Given the description of an element on the screen output the (x, y) to click on. 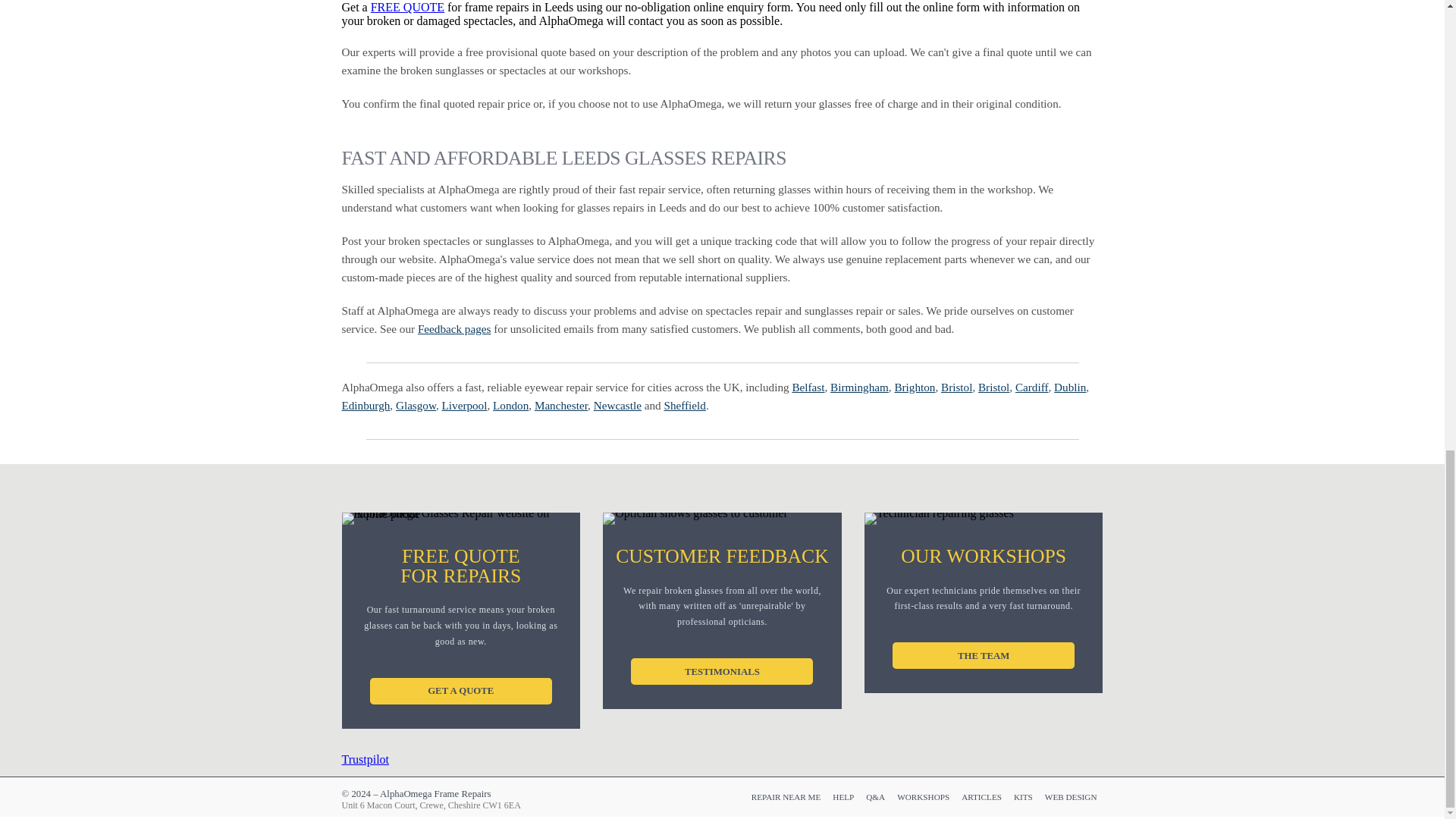
Trustpilot (364, 758)
Cardiff (1031, 386)
REPAIR NEAR ME (786, 797)
Birmingham (858, 386)
Feedback pages (454, 328)
Liverpool (464, 404)
THE TEAM (983, 655)
London (510, 404)
Glasgow (415, 404)
Visit our X Feed (941, 796)
